Given the description of an element on the screen output the (x, y) to click on. 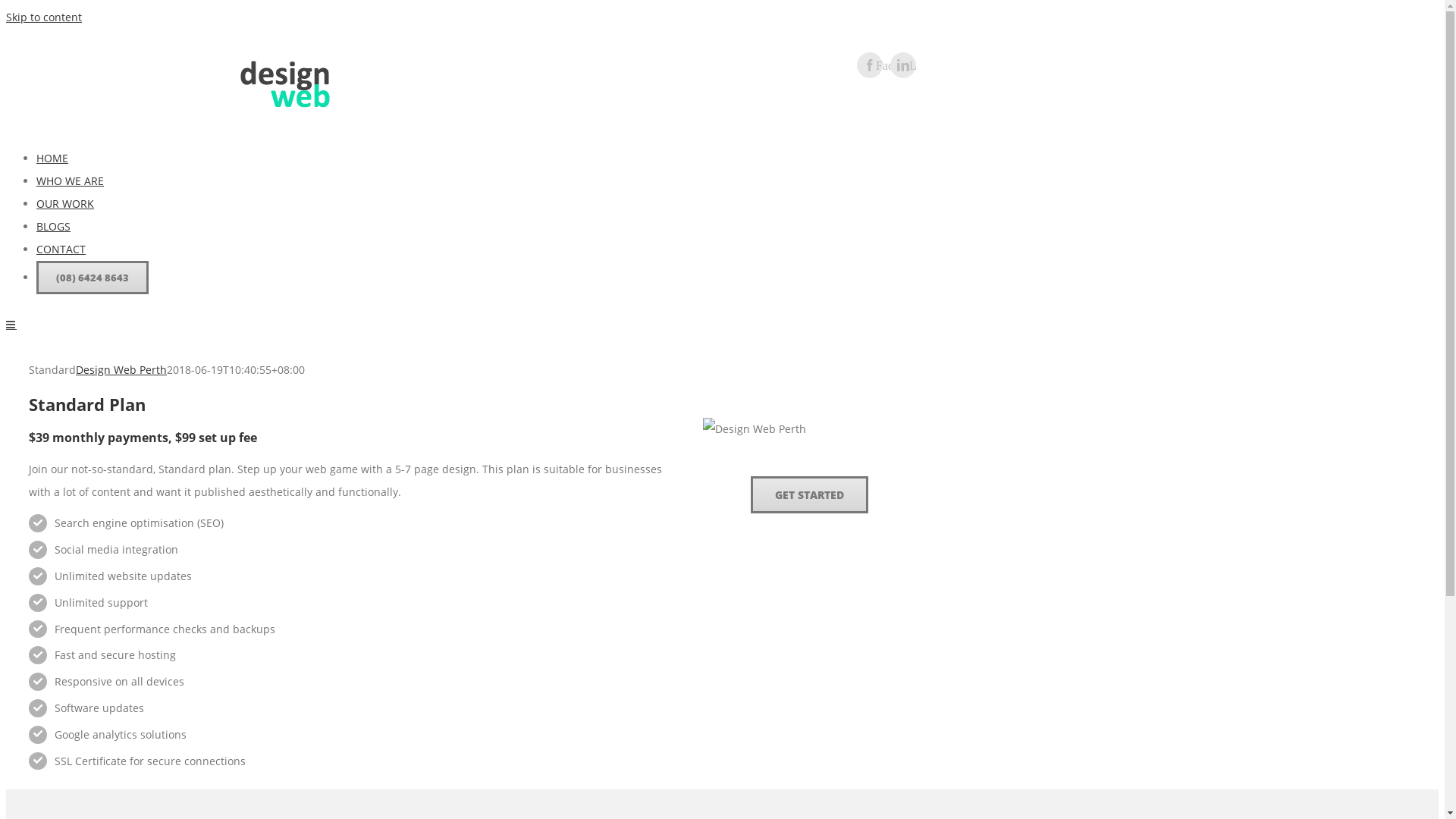
LinkedIn Element type: text (903, 65)
08 6424 8643 Element type: text (57, 74)
admin@designwebperth.com.au Element type: text (159, 74)
OUR WORK Element type: text (65, 203)
BLOGS Element type: text (53, 226)
Design Web Perth Element type: hover (754, 428)
Facebook Element type: text (869, 65)
Design Web Perth Element type: text (120, 369)
GET STARTED Element type: text (809, 494)
CONTACT Element type: text (60, 248)
HOME Element type: text (52, 157)
Skip to content Element type: text (43, 16)
(08) 6424 8643 Element type: text (92, 276)
WHO WE ARE Element type: text (69, 180)
